Given the description of an element on the screen output the (x, y) to click on. 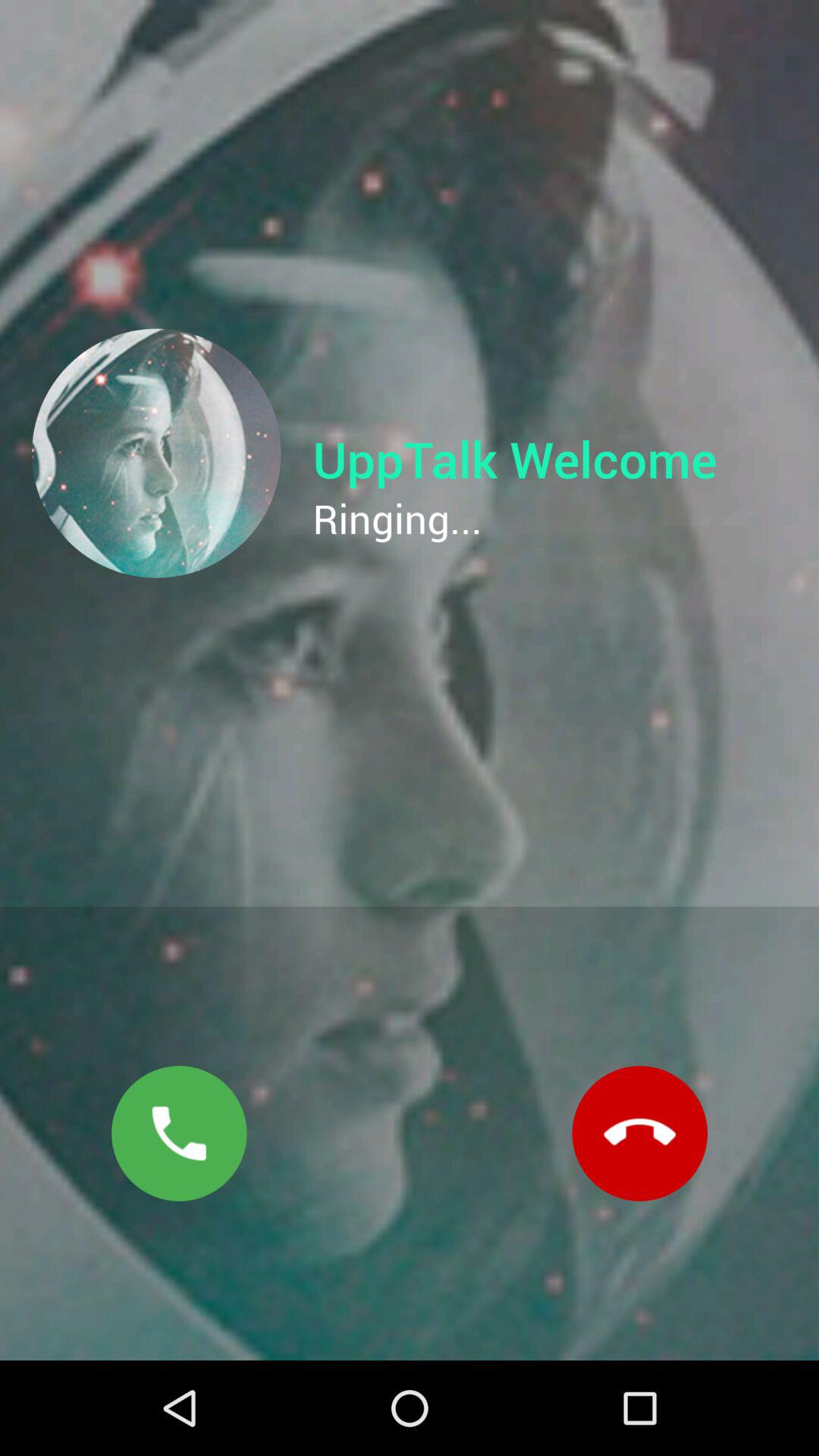
opens call (178, 1133)
